Given the description of an element on the screen output the (x, y) to click on. 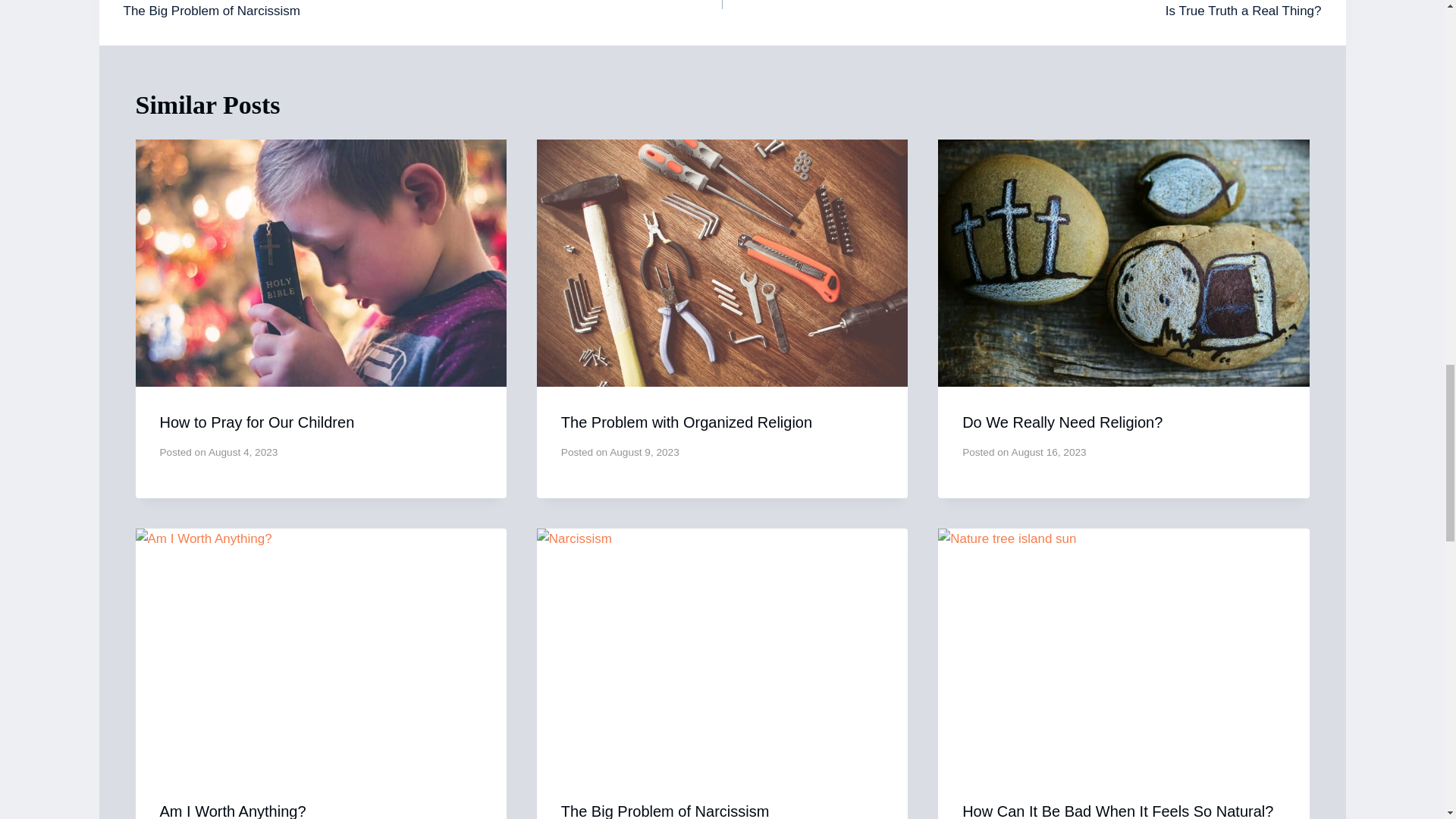
How to Pray for Our Children (255, 422)
Am I Worth Anything? (231, 811)
The Problem with Organized Religion (686, 422)
The Big Problem of Narcissism (665, 811)
Do We Really Need Religion? (1061, 422)
How Can It Be Bad When It Feels So Natural? (422, 10)
